Given the description of an element on the screen output the (x, y) to click on. 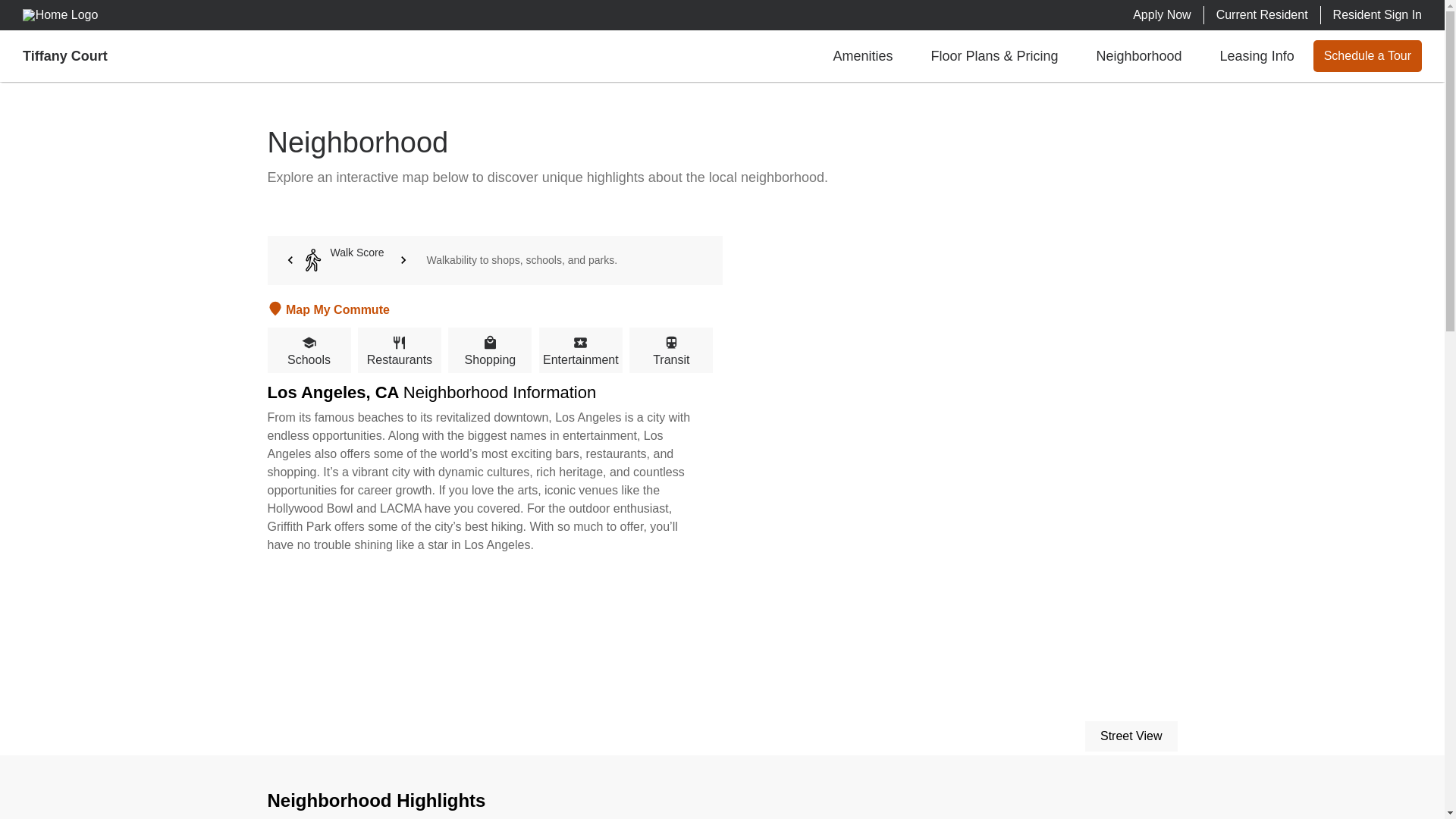
Restaurants (399, 350)
Map My Commute (494, 306)
Amenities (862, 55)
Entertainment (580, 350)
Current Resident (1261, 14)
Street View (1130, 735)
Transit (670, 350)
Schedule a Tour (1367, 56)
Neighborhood (1138, 55)
Schools (308, 350)
Shopping (489, 350)
Leasing Info (1257, 55)
Tiffany Court (65, 56)
Apply Now (1161, 14)
Resident Sign In (1377, 14)
